Given the description of an element on the screen output the (x, y) to click on. 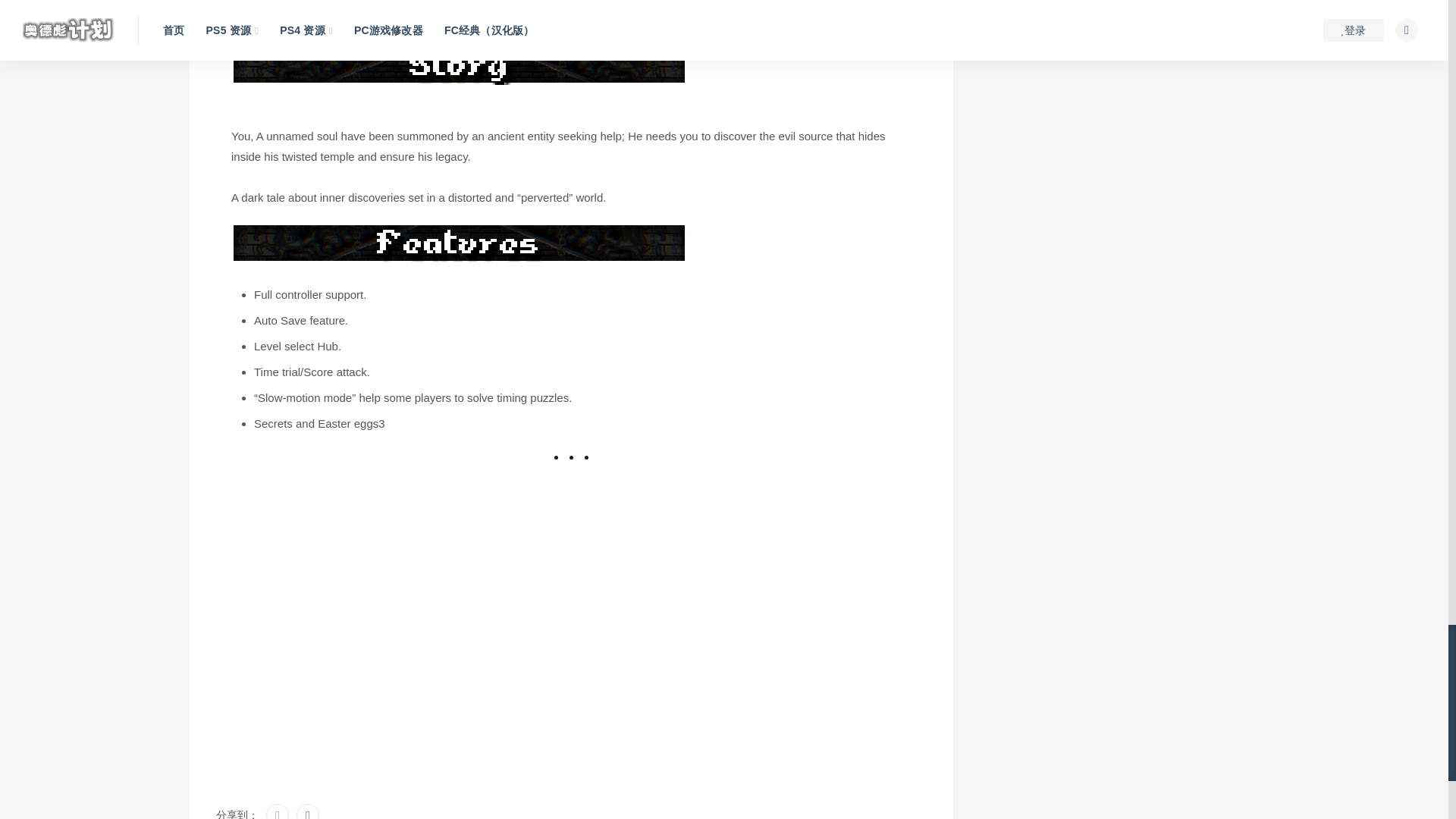
1702882388-b6eead44eb78eed.gif (458, 242)
1710860656-540f1af92f915e5.gif (458, 64)
